Given the description of an element on the screen output the (x, y) to click on. 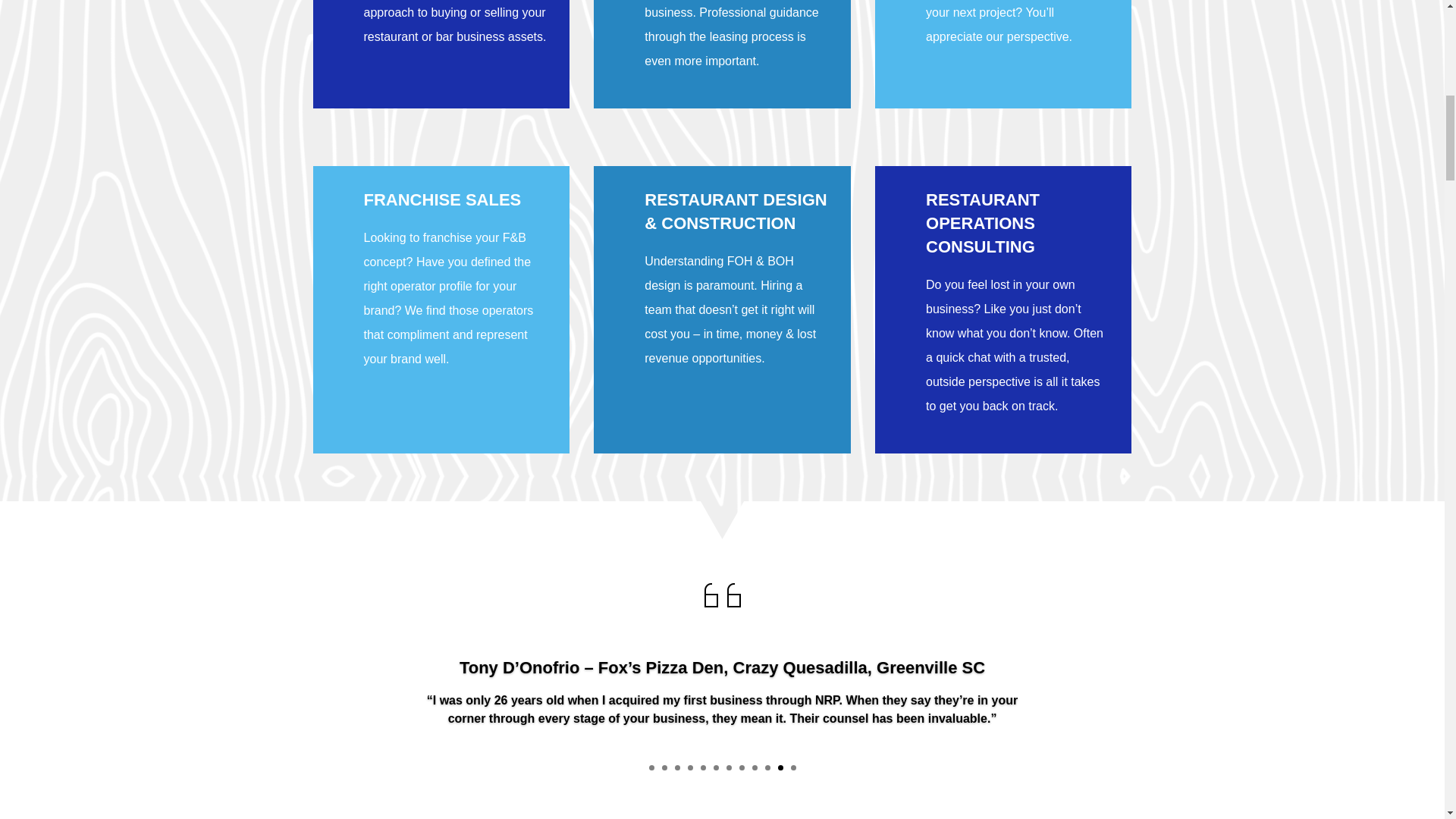
marina-icon-dark-16-1 (721, 595)
4 (690, 767)
2 (663, 767)
